Given the description of an element on the screen output the (x, y) to click on. 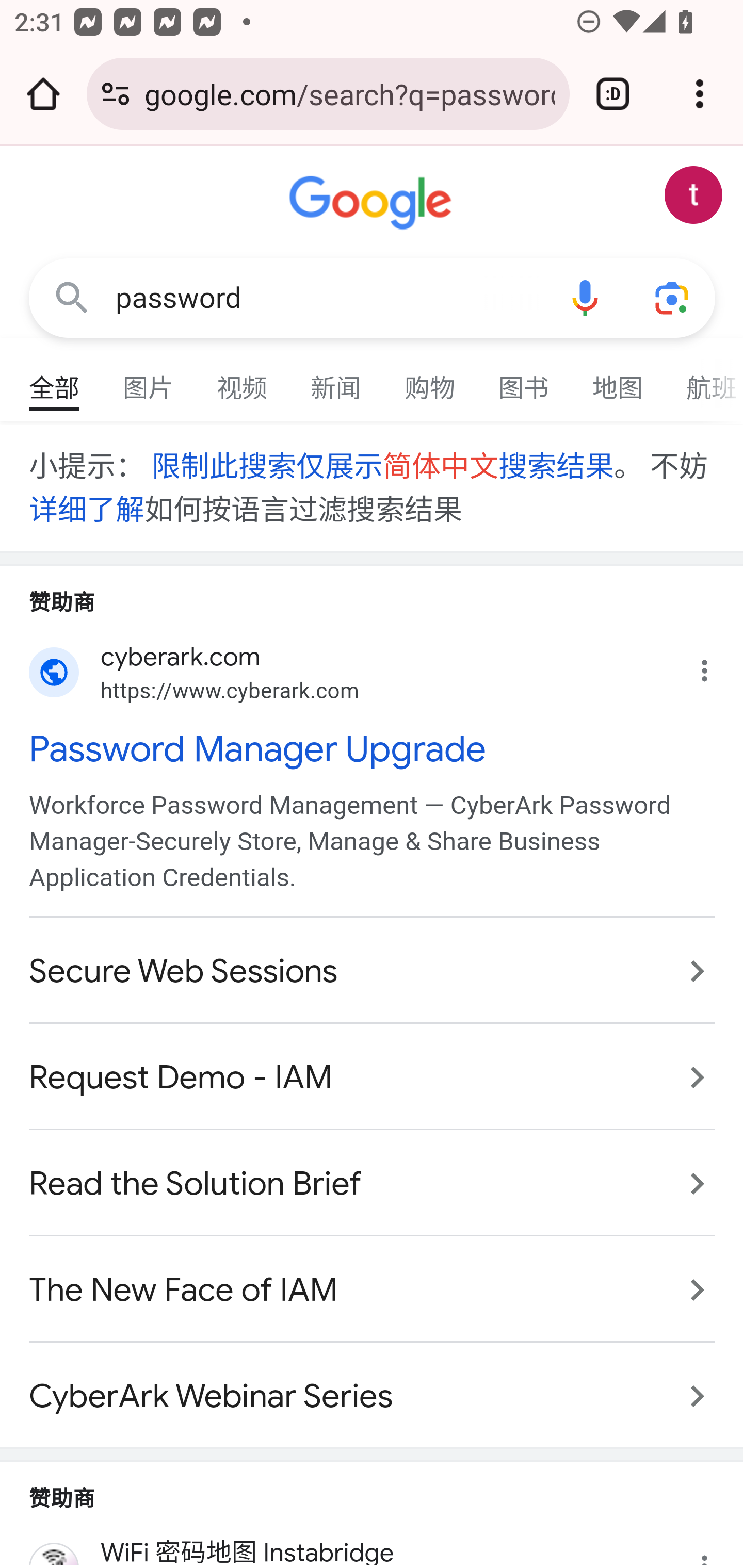
Open the home page (43, 93)
Connection is secure (115, 93)
Switch or close tabs (612, 93)
Customize and control Google Chrome (699, 93)
Google (372, 203)
Google 账号： test appium (testappium002@gmail.com) (694, 195)
Google 搜索 (71, 296)
使用拍照功能或照片进行搜索 (672, 296)
password (328, 297)
图片 (148, 378)
视频 (242, 378)
新闻 (336, 378)
购物 (430, 378)
图书 (524, 378)
地图 (618, 378)
航班 (703, 378)
限制此搜索仅展示简体中文搜索结果 限制此搜索仅展示 简体中文 搜索结果 (381, 467)
详细了解 (86, 509)
为什么会显示该广告？ (714, 665)
Password Manager Upgrade (372, 749)
Secure Web Sessions (372, 971)
Request Demo - IAM (372, 1078)
Read the Solution Brief (372, 1184)
The New Face of IAM (372, 1289)
CyberArk Webinar Series (372, 1385)
为什么会显示该广告？ (714, 1543)
